Given the description of an element on the screen output the (x, y) to click on. 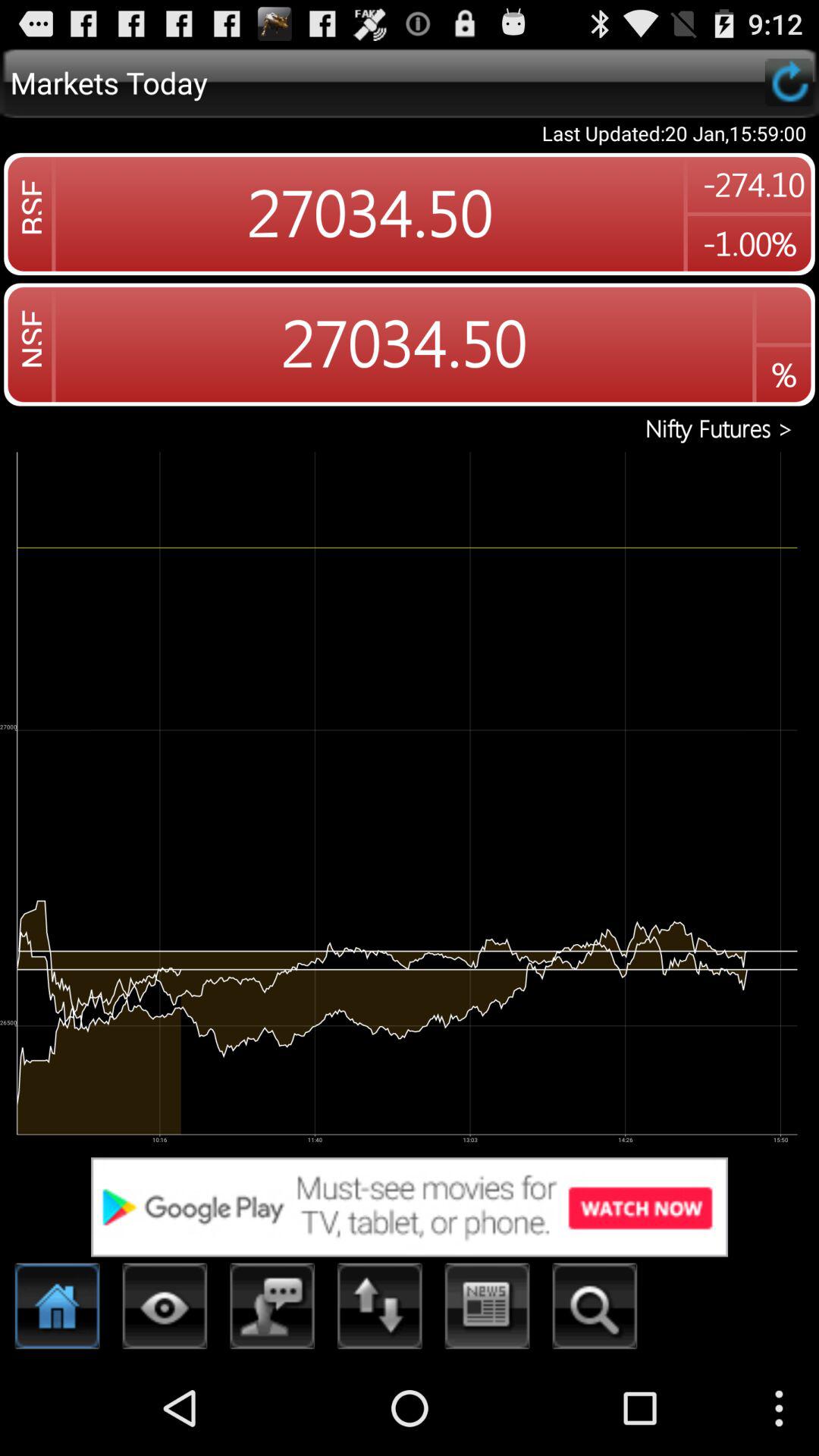
click on eye symbol  at the bottom (165, 1309)
click on the fifth button from left (487, 1309)
click on the third icon from the bottom left (272, 1309)
